Given the description of an element on the screen output the (x, y) to click on. 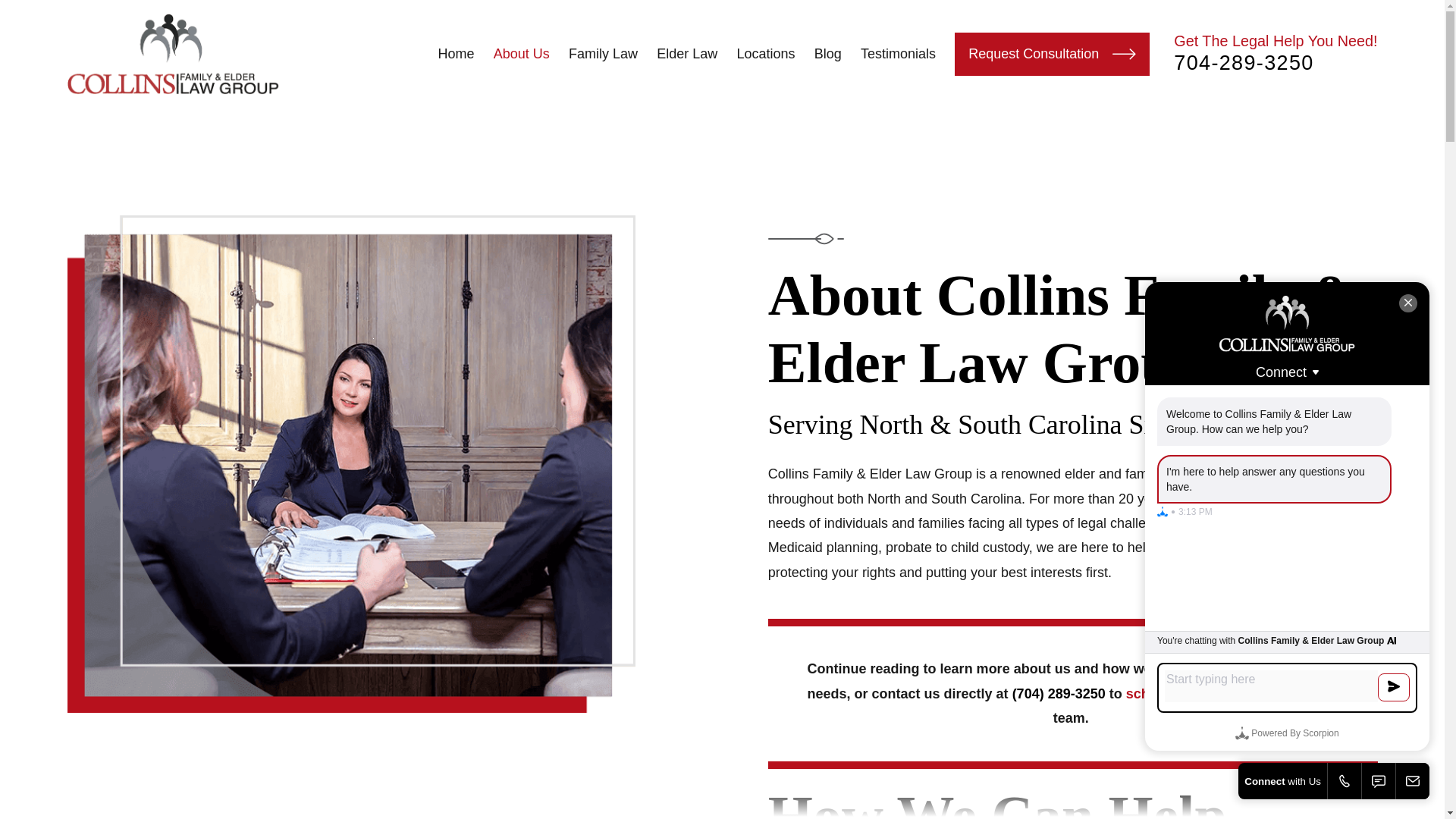
About Us (521, 53)
Home (172, 54)
